Given the description of an element on the screen output the (x, y) to click on. 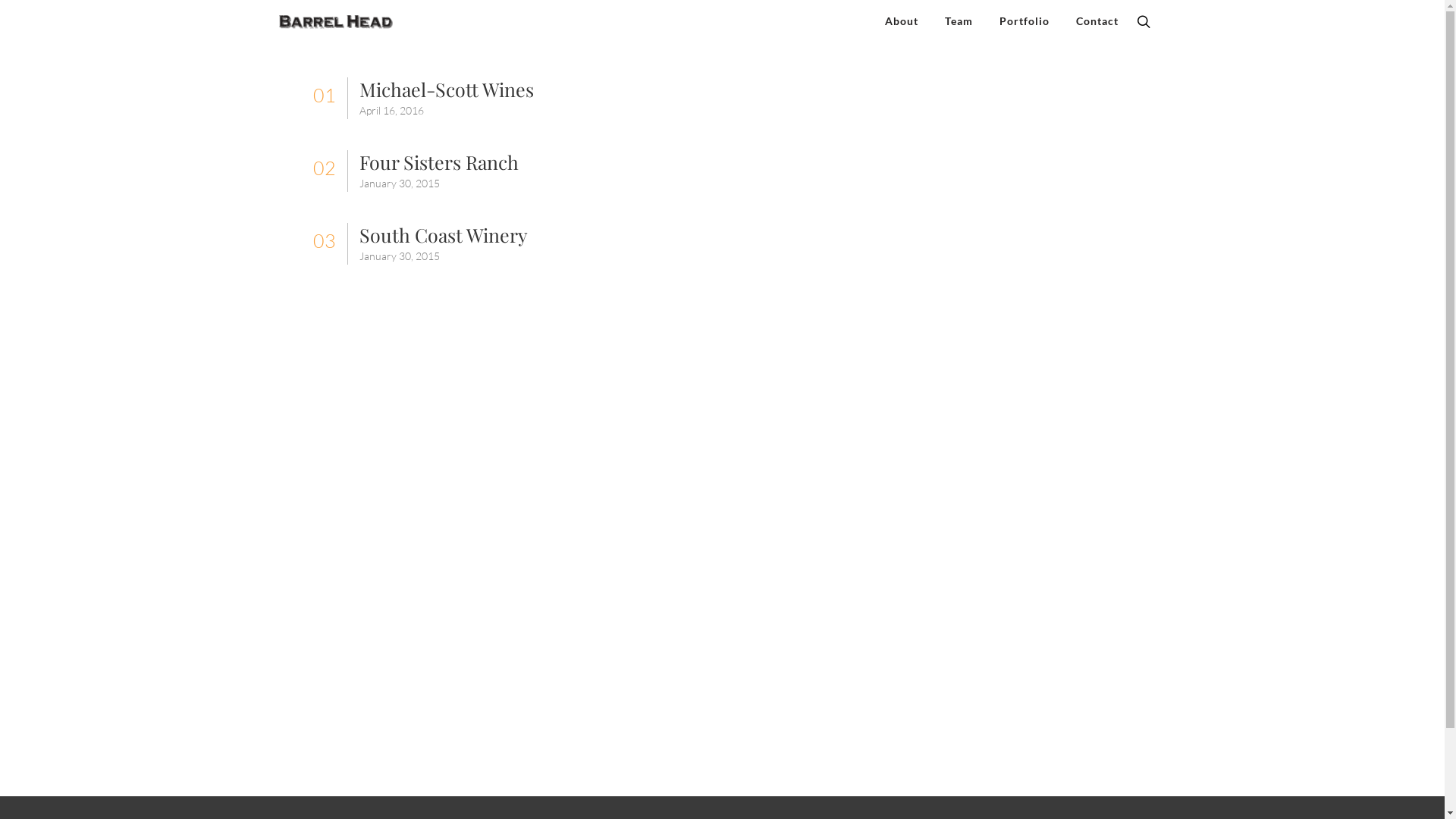
South Coast Winery Element type: text (443, 234)
Contact Element type: text (1097, 21)
Portfolio Element type: text (1023, 21)
About Element type: text (901, 21)
Team Element type: text (957, 21)
Four Sisters Ranch Element type: text (438, 161)
Michael-Scott Wines Element type: text (446, 89)
